Given the description of an element on the screen output the (x, y) to click on. 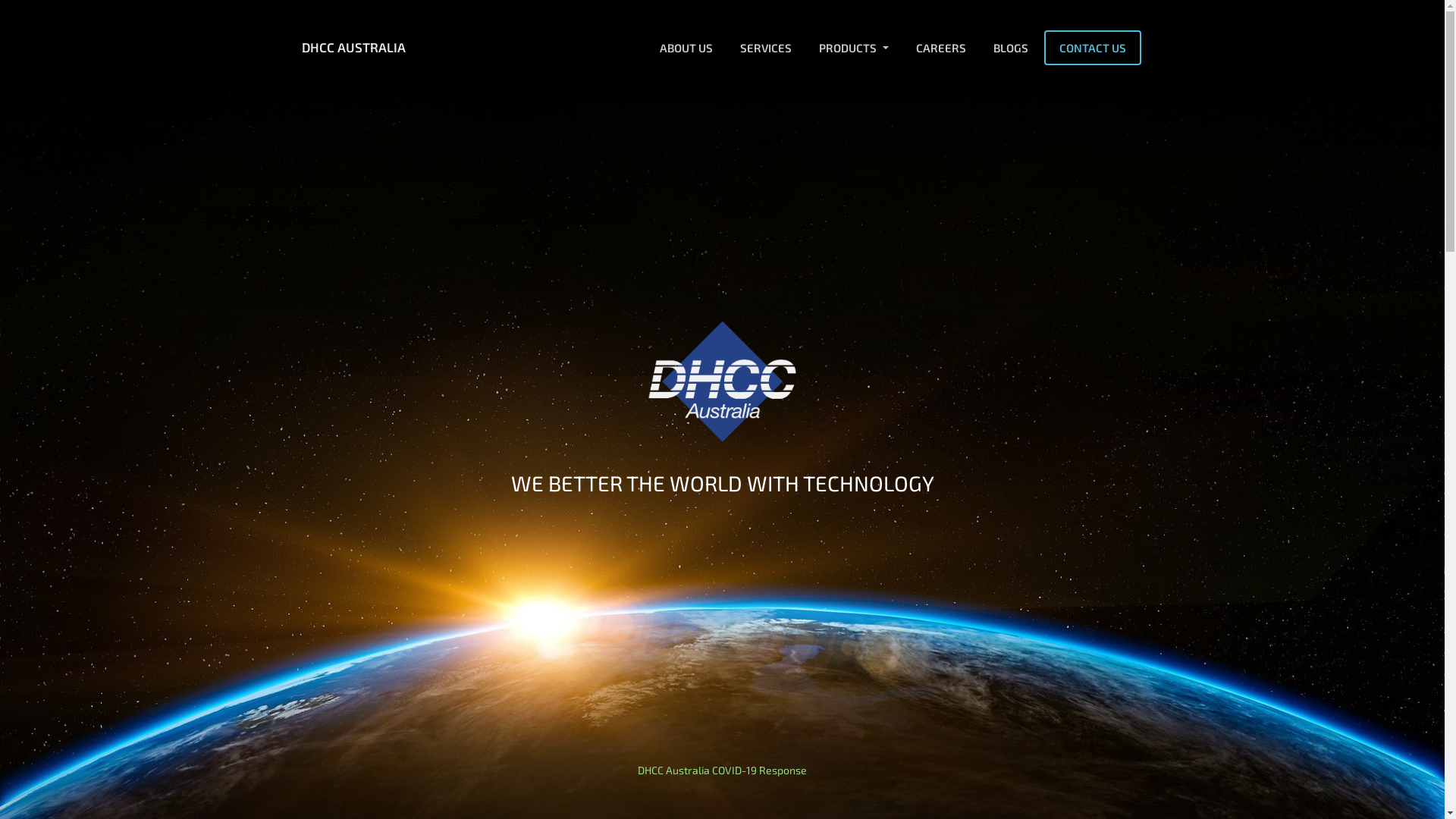
ABOUT US Element type: text (685, 47)
SERVICES Element type: text (765, 47)
BLOGS Element type: text (1009, 47)
CAREERS Element type: text (939, 47)
CONTACT US Element type: text (1091, 47)
DHCC AUSTRALIA Element type: text (353, 47)
PRODUCTS Element type: text (852, 47)
DHCC Australia COVID-19 Response Element type: text (721, 769)
